Given the description of an element on the screen output the (x, y) to click on. 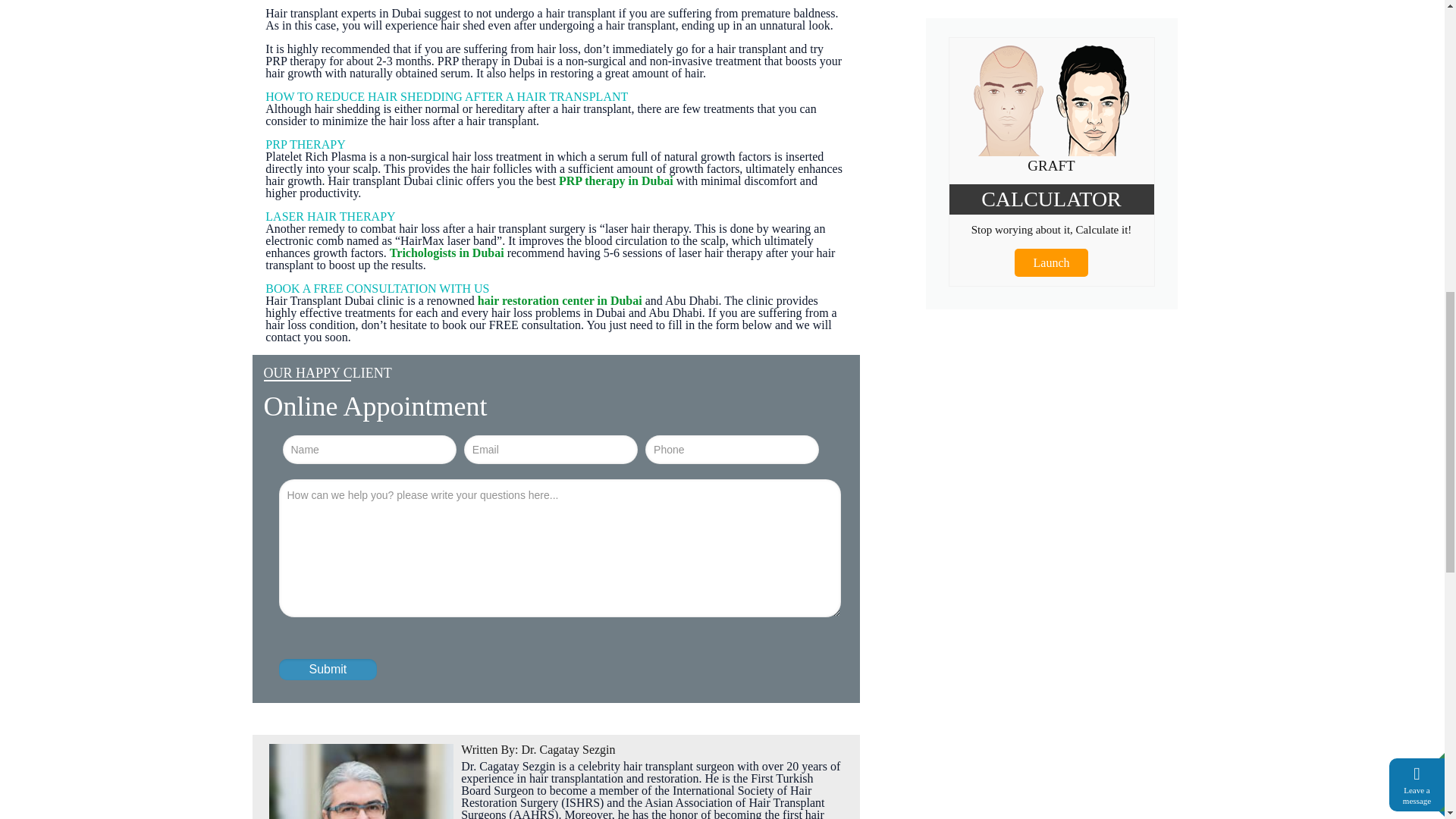
Launch (1051, 262)
Submit (328, 669)
